Given the description of an element on the screen output the (x, y) to click on. 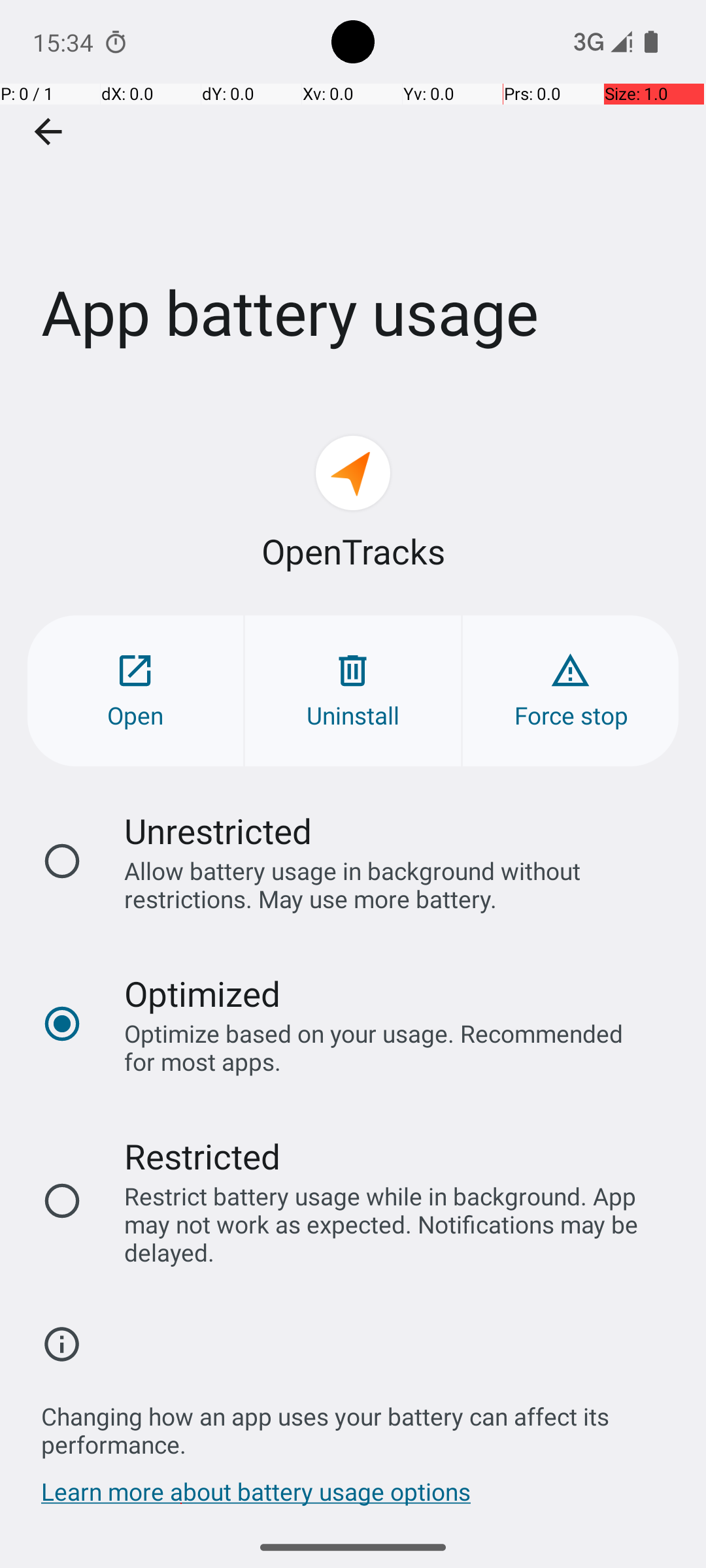
Unrestricted Element type: android.widget.TextView (217, 830)
Allow battery usage in background without restrictions. May use more battery. Element type: android.widget.TextView (387, 884)
Optimized Element type: android.widget.TextView (202, 993)
Optimize based on your usage. Recommended for most apps. Element type: android.widget.TextView (387, 1047)
Restricted Element type: android.widget.TextView (202, 1155)
Restrict battery usage while in background. App may not work as expected. Notifications may be delayed. Element type: android.widget.TextView (387, 1223)
Changing how an app uses your battery can affect its performance. Element type: android.widget.TextView (359, 1423)
Learn more about battery usage options Element type: android.widget.TextView (255, 1497)
